Given the description of an element on the screen output the (x, y) to click on. 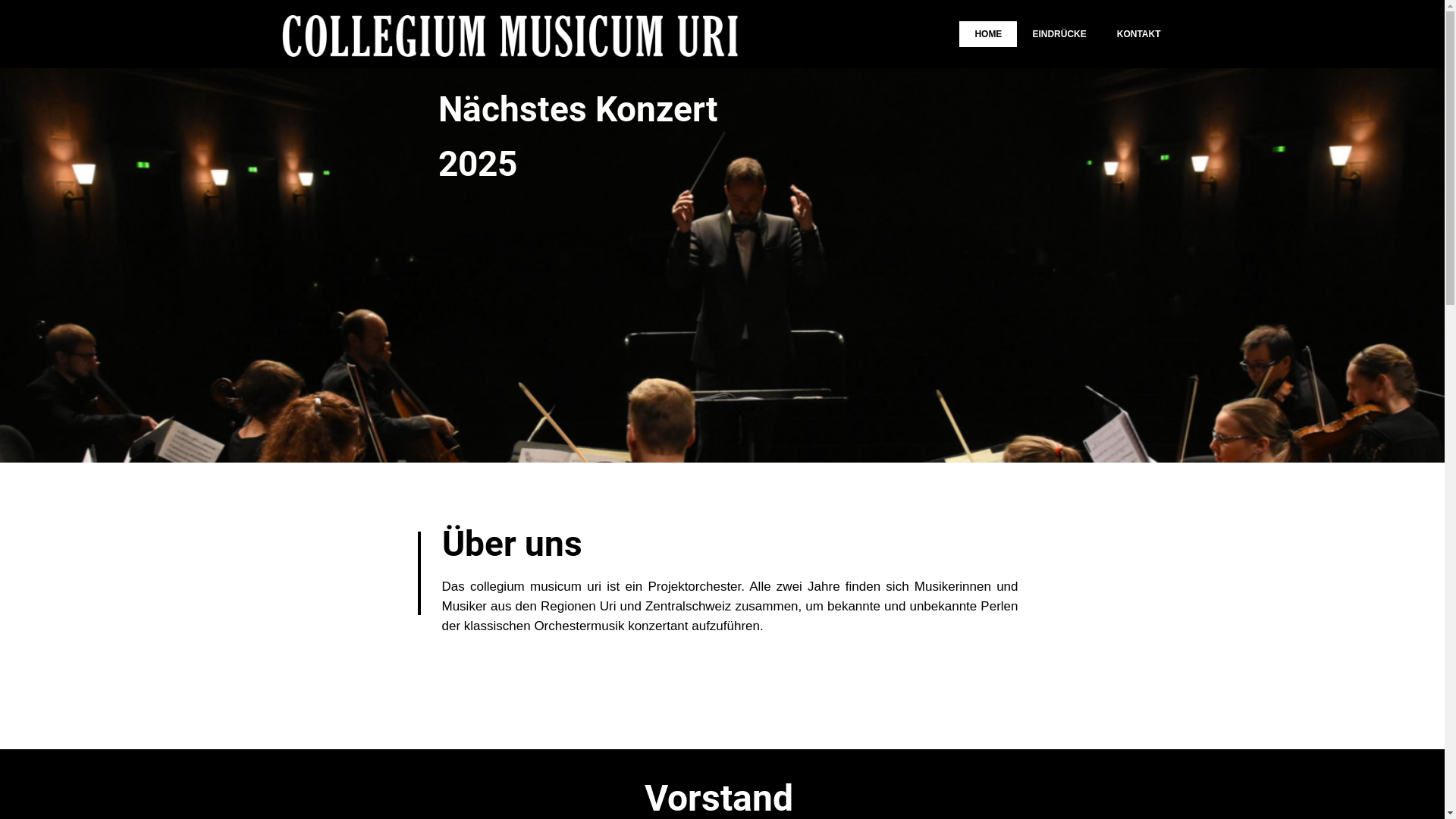
KONTAKT Element type: text (1138, 34)
HOME Element type: text (987, 34)
